Given the description of an element on the screen output the (x, y) to click on. 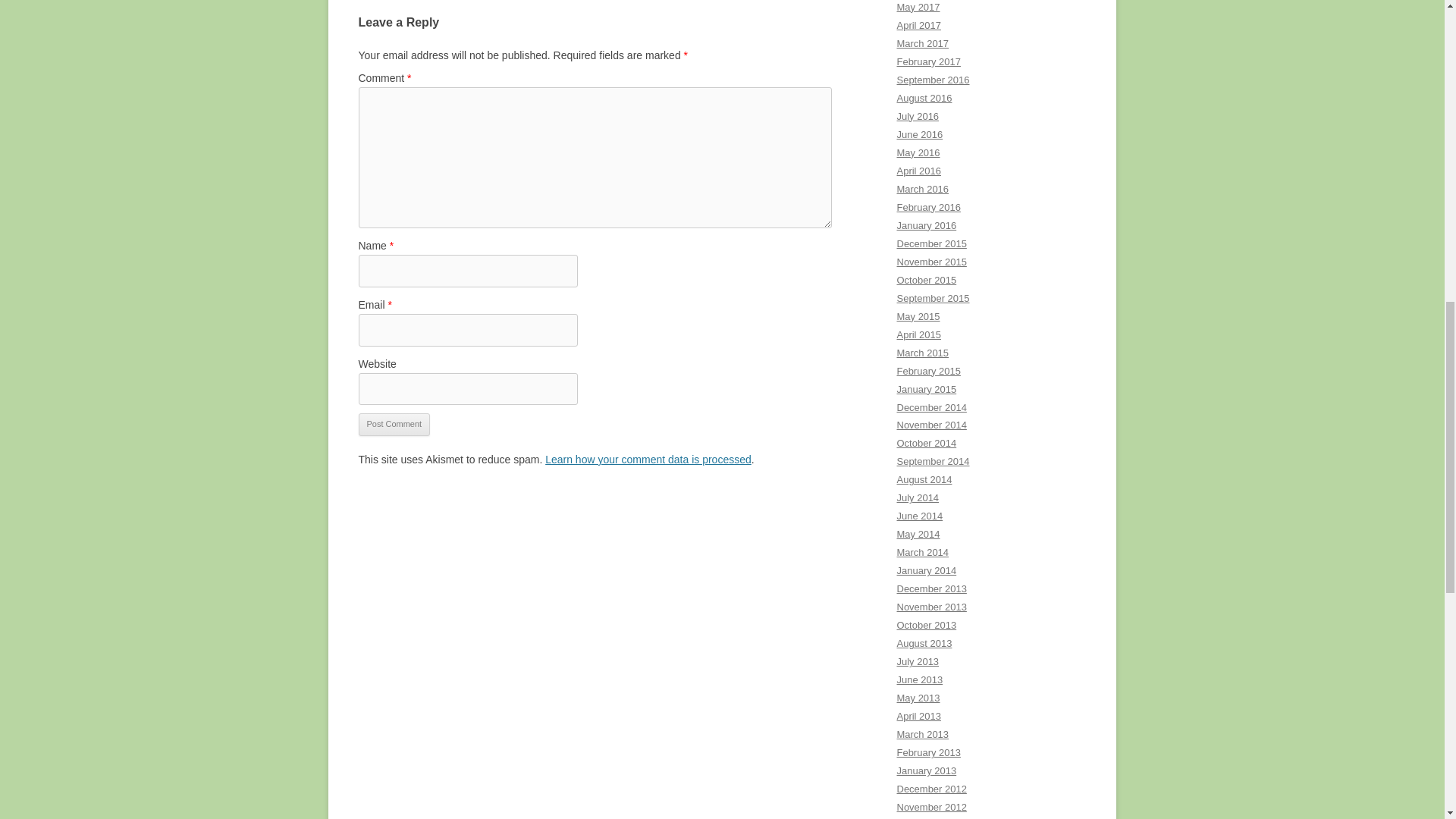
Learn how your comment data is processed (647, 459)
Post Comment (393, 424)
Post Comment (393, 424)
